Given the description of an element on the screen output the (x, y) to click on. 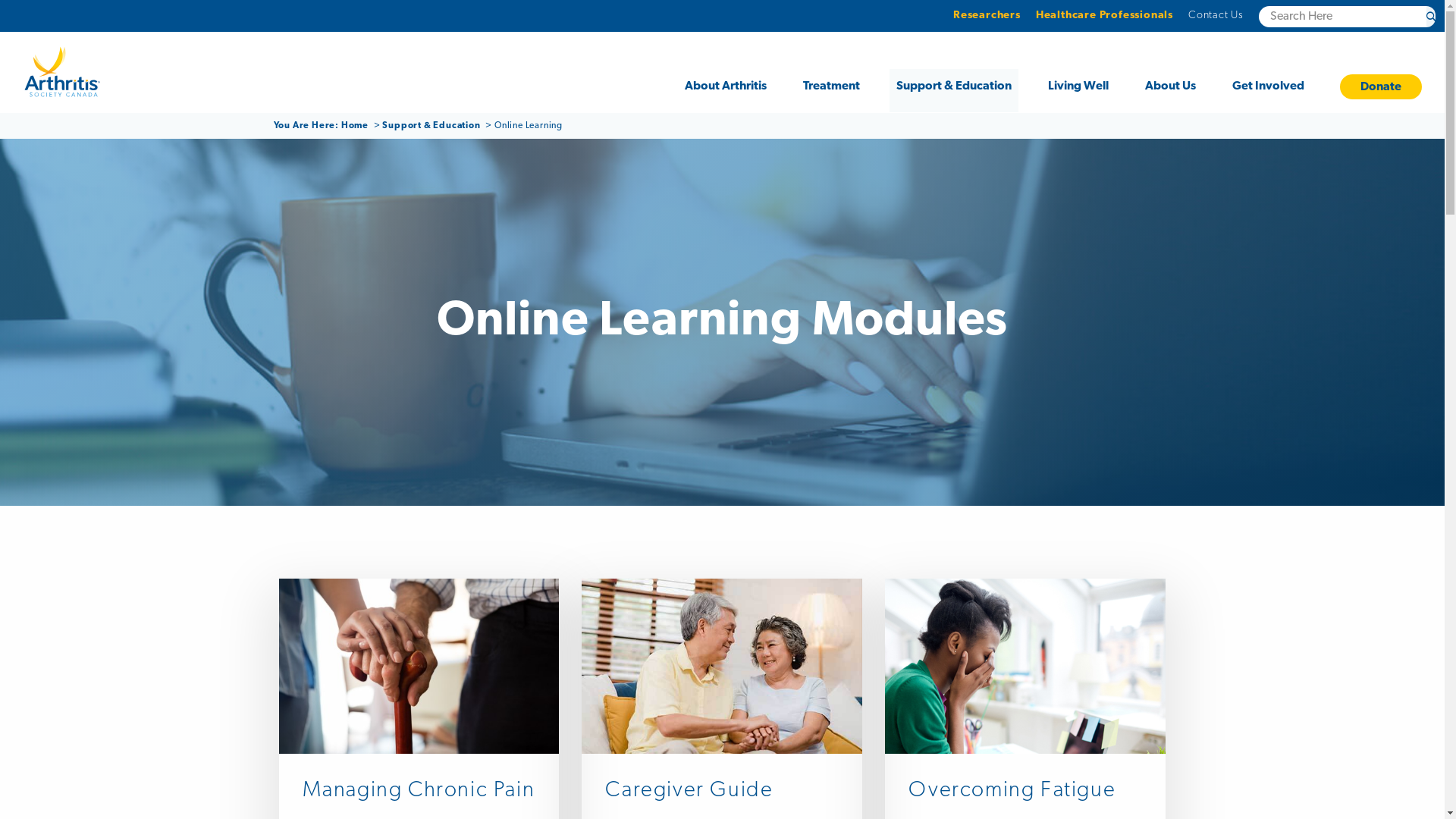
Support & Education Element type: text (953, 90)
Healthcare Professionals Element type: text (1104, 15)
Donate Element type: text (1380, 86)
Living Well Element type: text (1078, 90)
Search Here Element type: text (1430, 16)
Home Element type: text (356, 125)
Researchers Element type: text (986, 15)
Get Involved Element type: text (1268, 90)
Arthritis Society Canada Element type: text (61, 71)
Overcoming Fatigue Element type: text (1025, 791)
Treatment Element type: text (831, 90)
About Arthritis Element type: text (725, 90)
Caregiver Guide Element type: text (721, 791)
About Us Element type: text (1170, 90)
Support & Education Element type: text (432, 125)
Contact Us Element type: text (1215, 15)
Managing Chronic Pain Element type: text (418, 791)
